Given the description of an element on the screen output the (x, y) to click on. 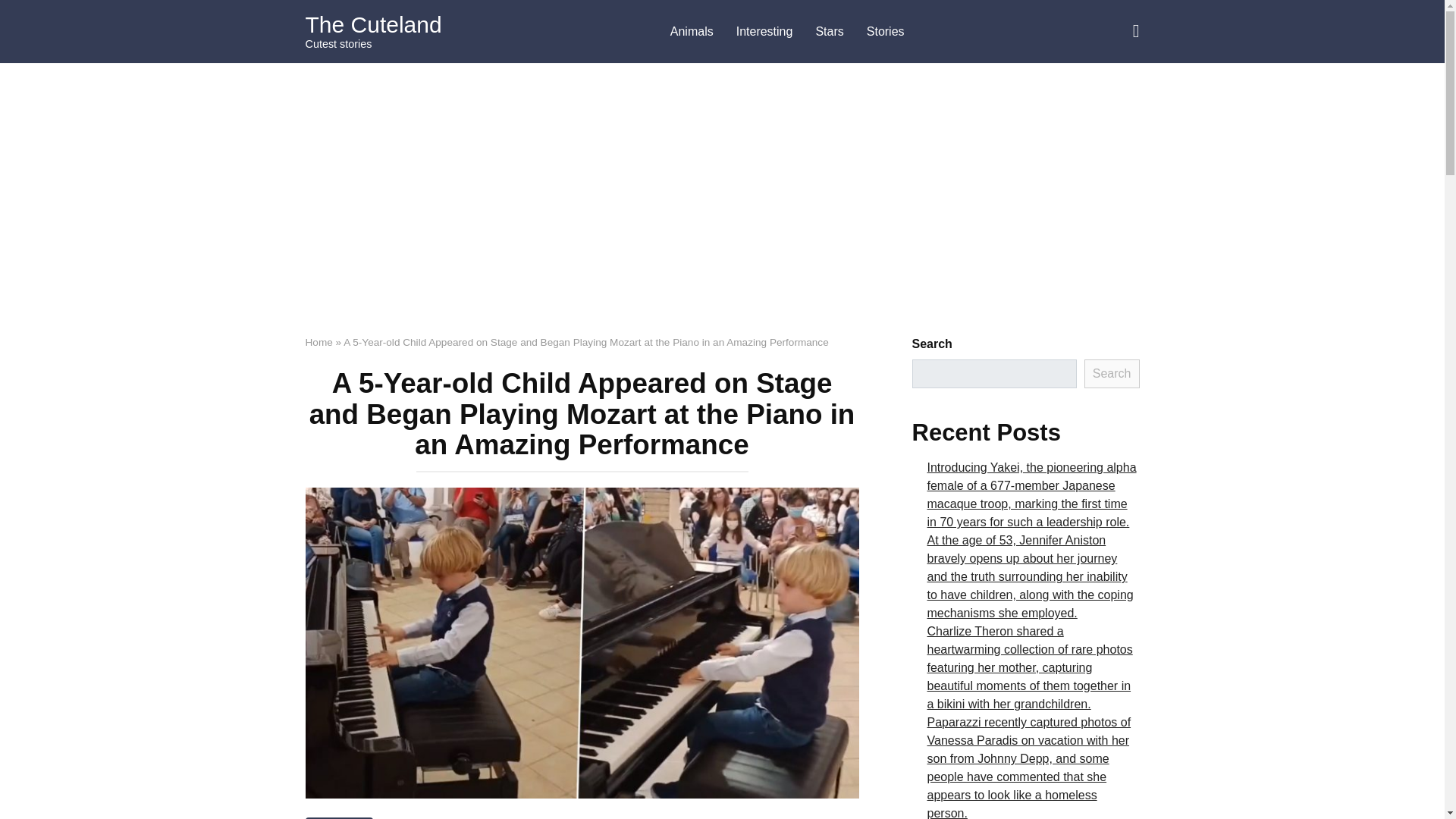
The Cuteland (372, 24)
Animals (692, 31)
Home (317, 342)
Stories (338, 818)
Stars (828, 31)
Search (1112, 373)
Interesting (765, 31)
Stories (885, 31)
